Given the description of an element on the screen output the (x, y) to click on. 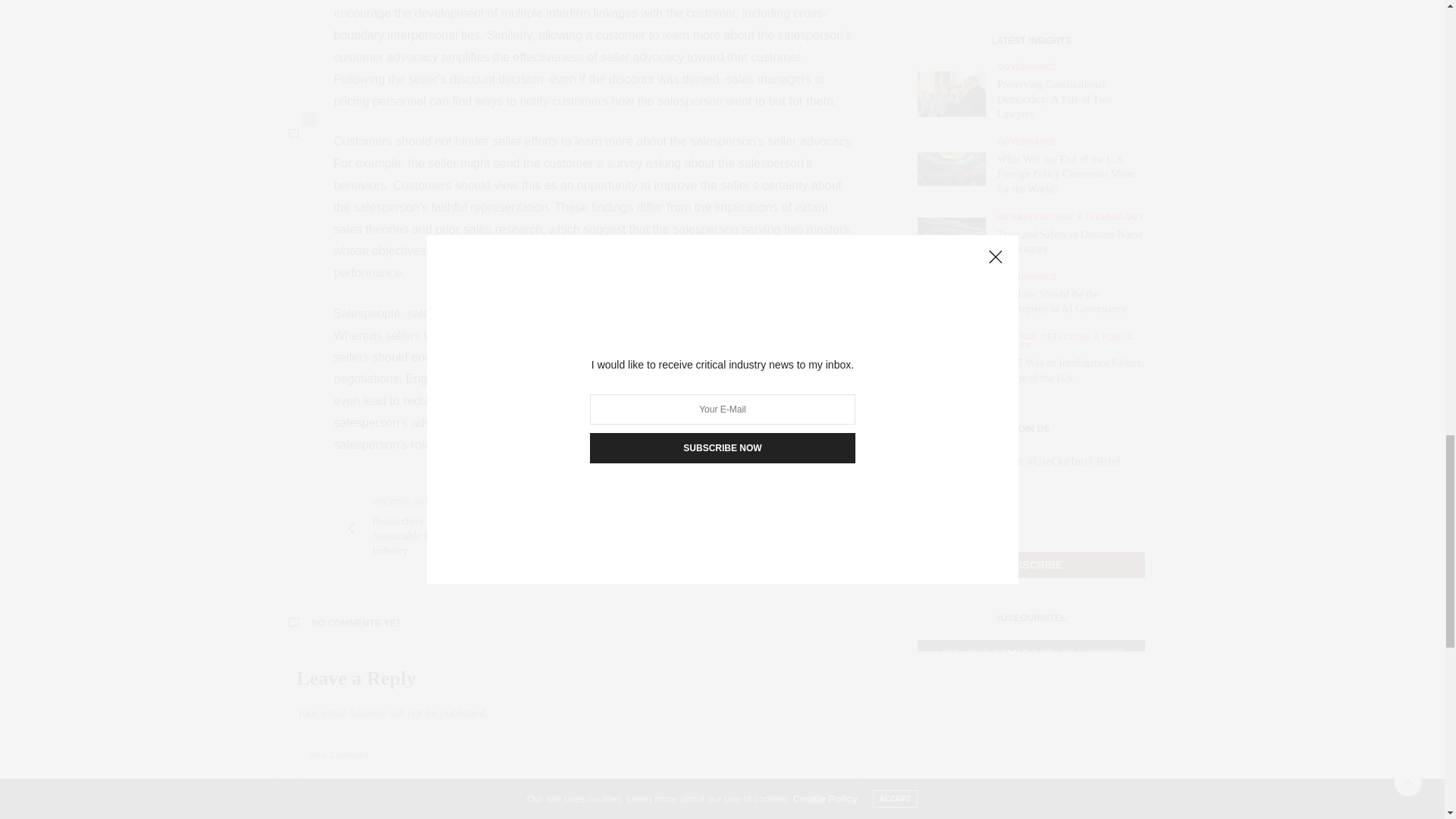
NO COMMENTS YET (564, 623)
